Given the description of an element on the screen output the (x, y) to click on. 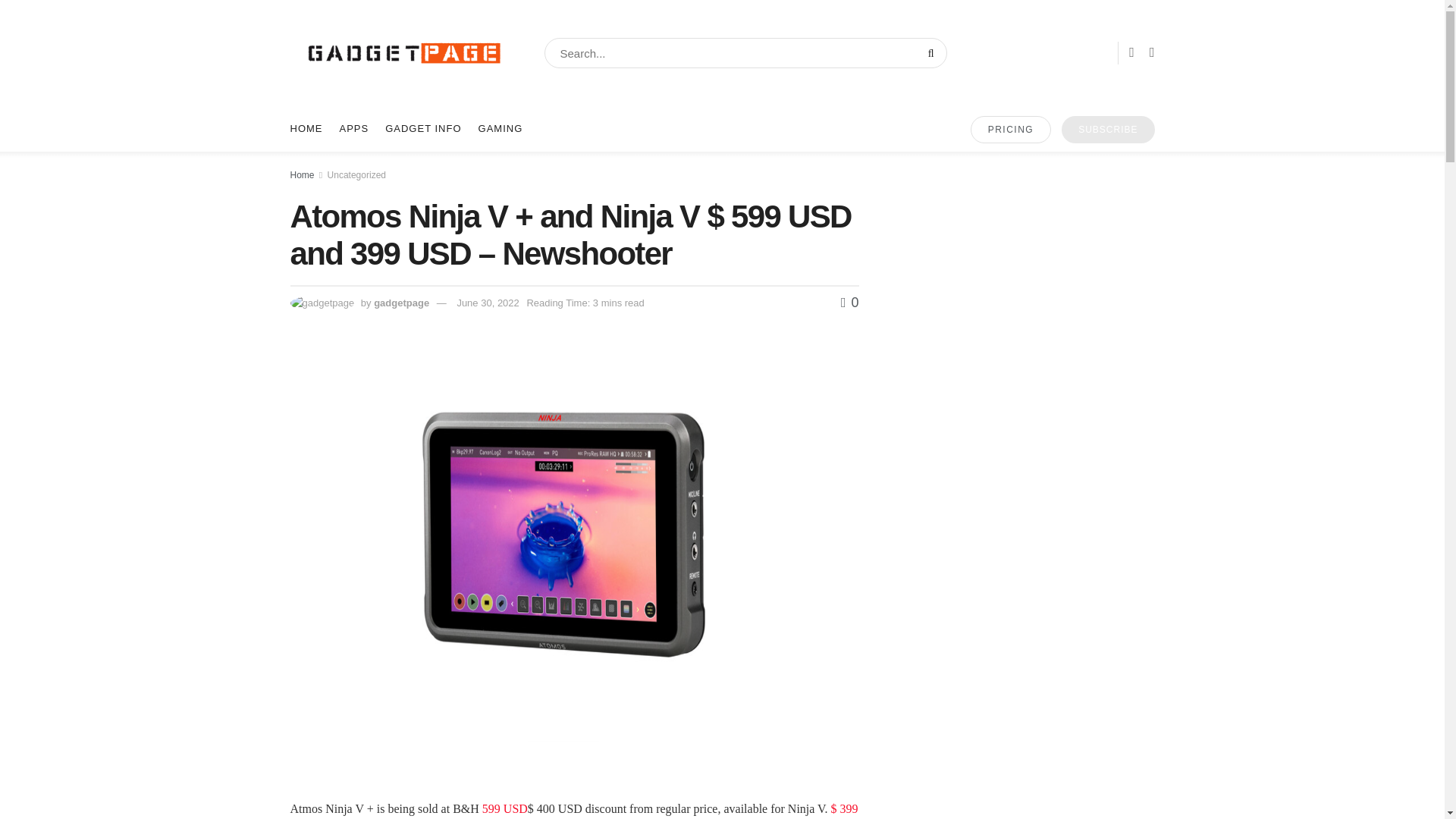
Uncategorized (356, 174)
gadgetpage (401, 302)
GAMING (500, 128)
SUBSCRIBE (1107, 129)
June 30, 2022 (487, 302)
PRICING (1011, 129)
599 USD (504, 808)
0 (850, 302)
Home (301, 174)
GADGET INFO (423, 128)
